Given the description of an element on the screen output the (x, y) to click on. 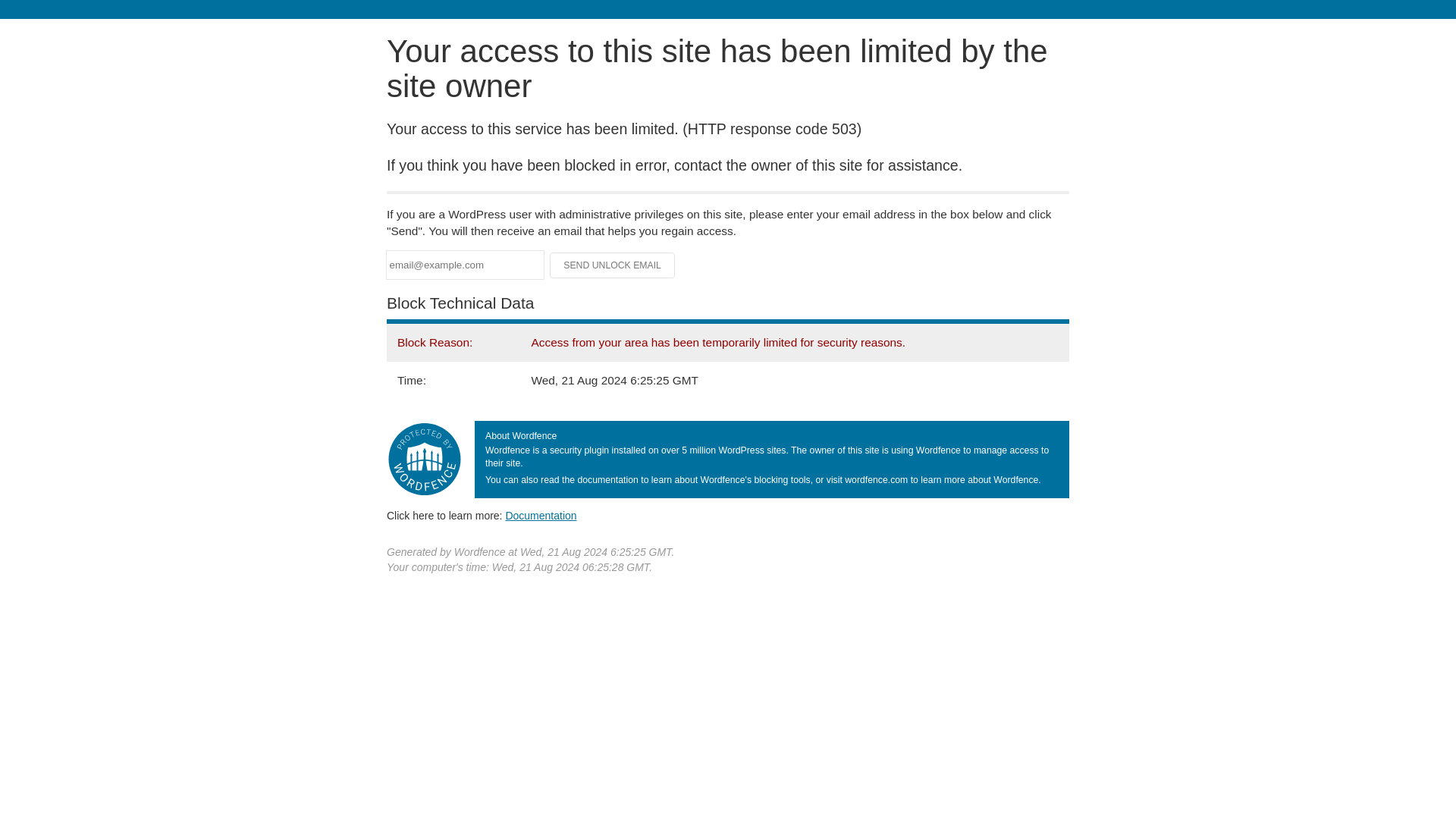
Send Unlock Email (612, 265)
Send Unlock Email (612, 265)
Documentation (540, 515)
